Given the description of an element on the screen output the (x, y) to click on. 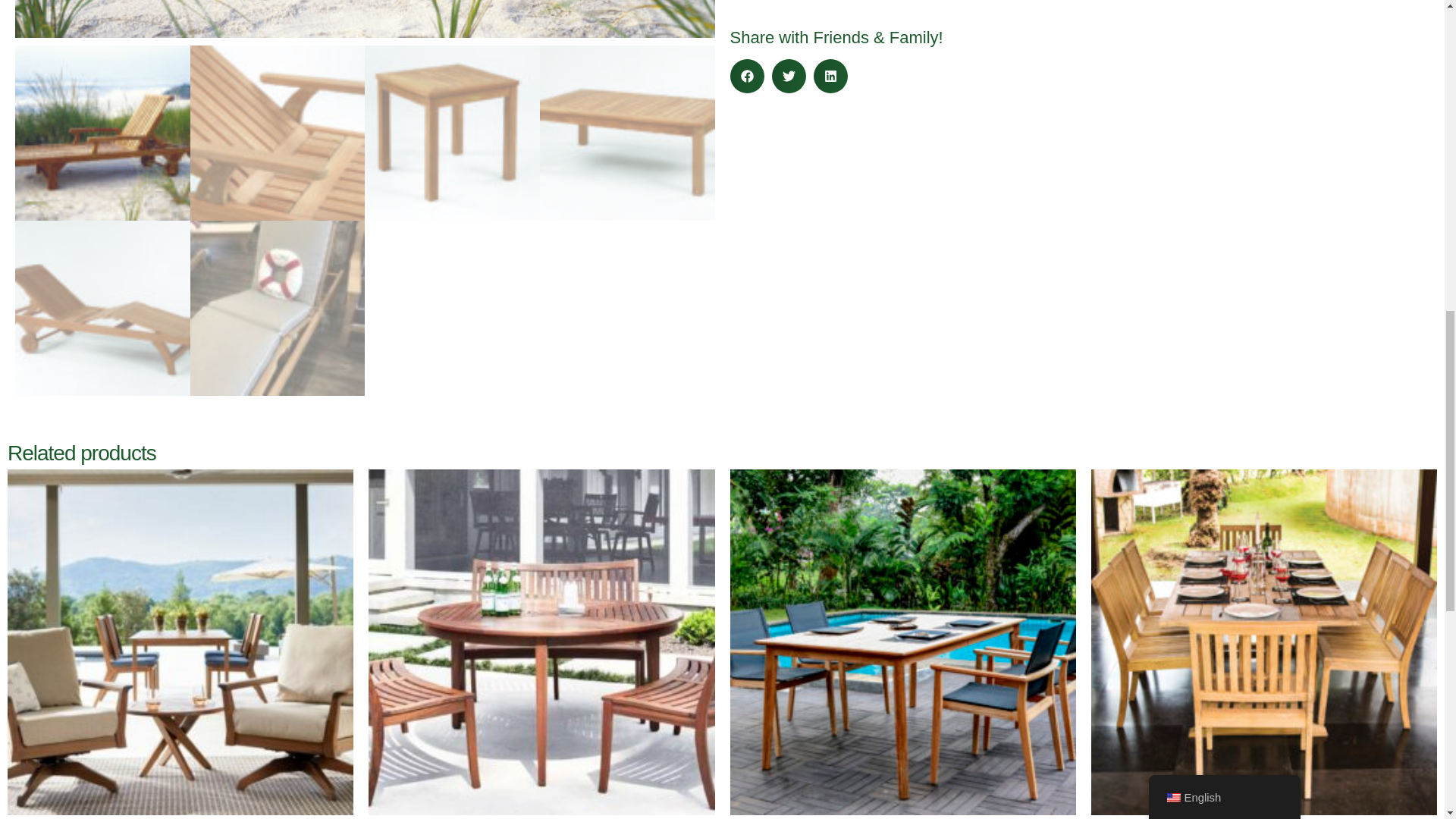
Paine's Patio (1079, 6)
Kingsley Bate Classic Chaise (364, 18)
